Given the description of an element on the screen output the (x, y) to click on. 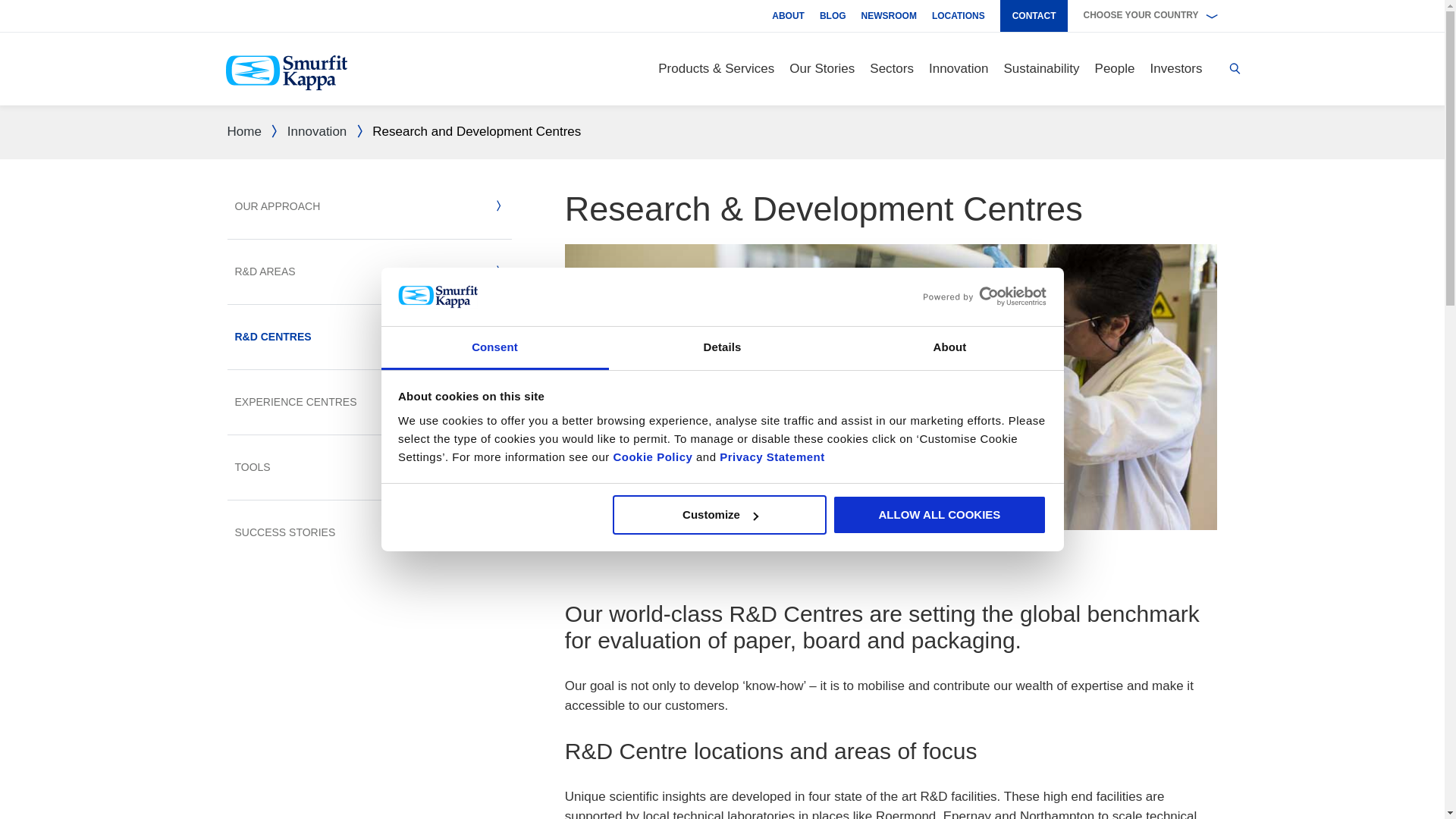
Privacy Statement (770, 456)
Consent (494, 348)
Cookie Policy (652, 456)
Details (721, 348)
About (948, 348)
How can we help you? (1234, 68)
